Given the description of an element on the screen output the (x, y) to click on. 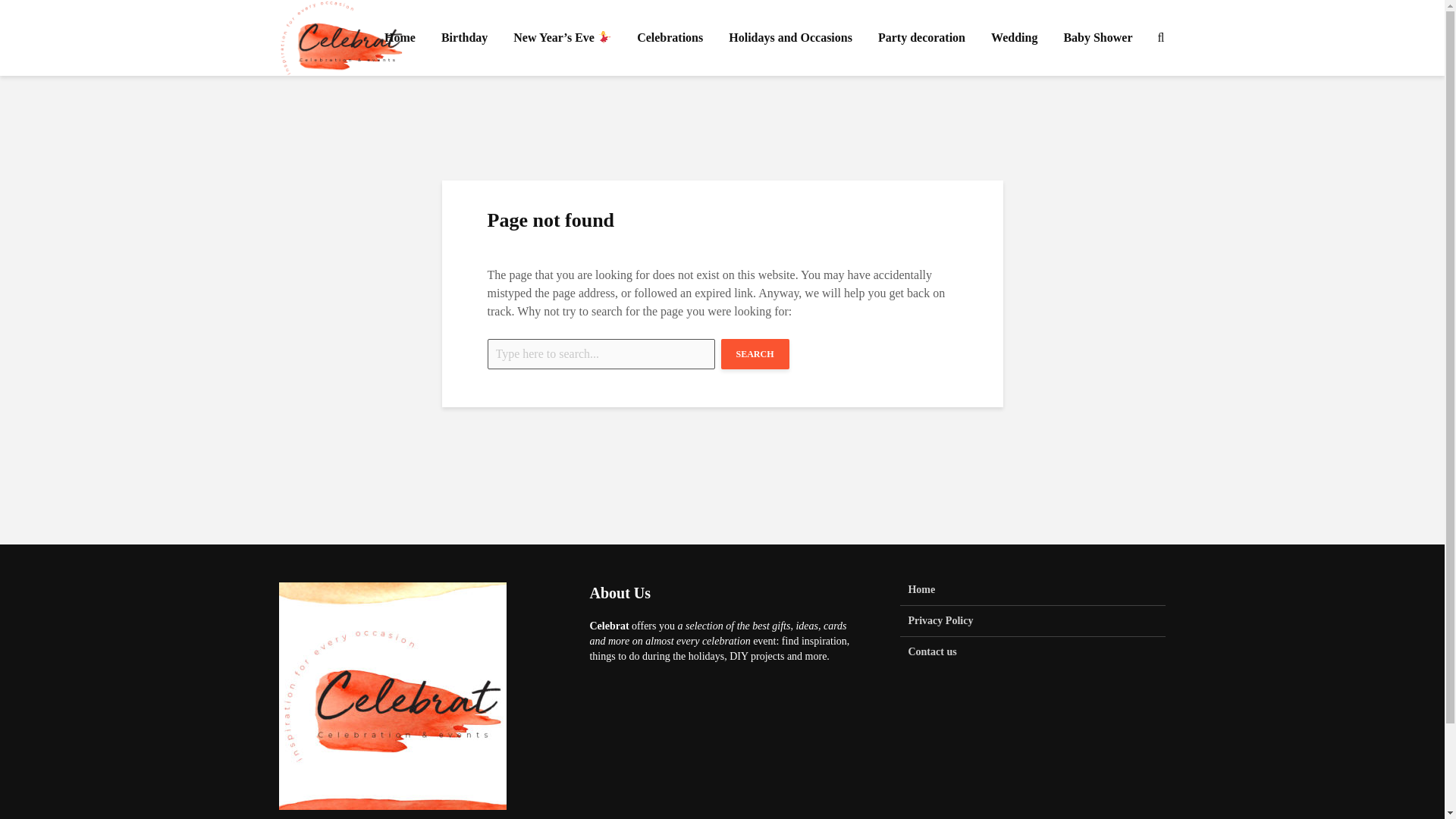
Home (1032, 594)
Birthday (464, 37)
Holidays and Occasions (790, 37)
Wedding (1013, 37)
Celebrations (670, 37)
Baby Shower (1096, 37)
SEARCH (754, 354)
Privacy Policy (1032, 621)
Home (399, 37)
Contact us (1032, 652)
Party decoration (921, 37)
